Given the description of an element on the screen output the (x, y) to click on. 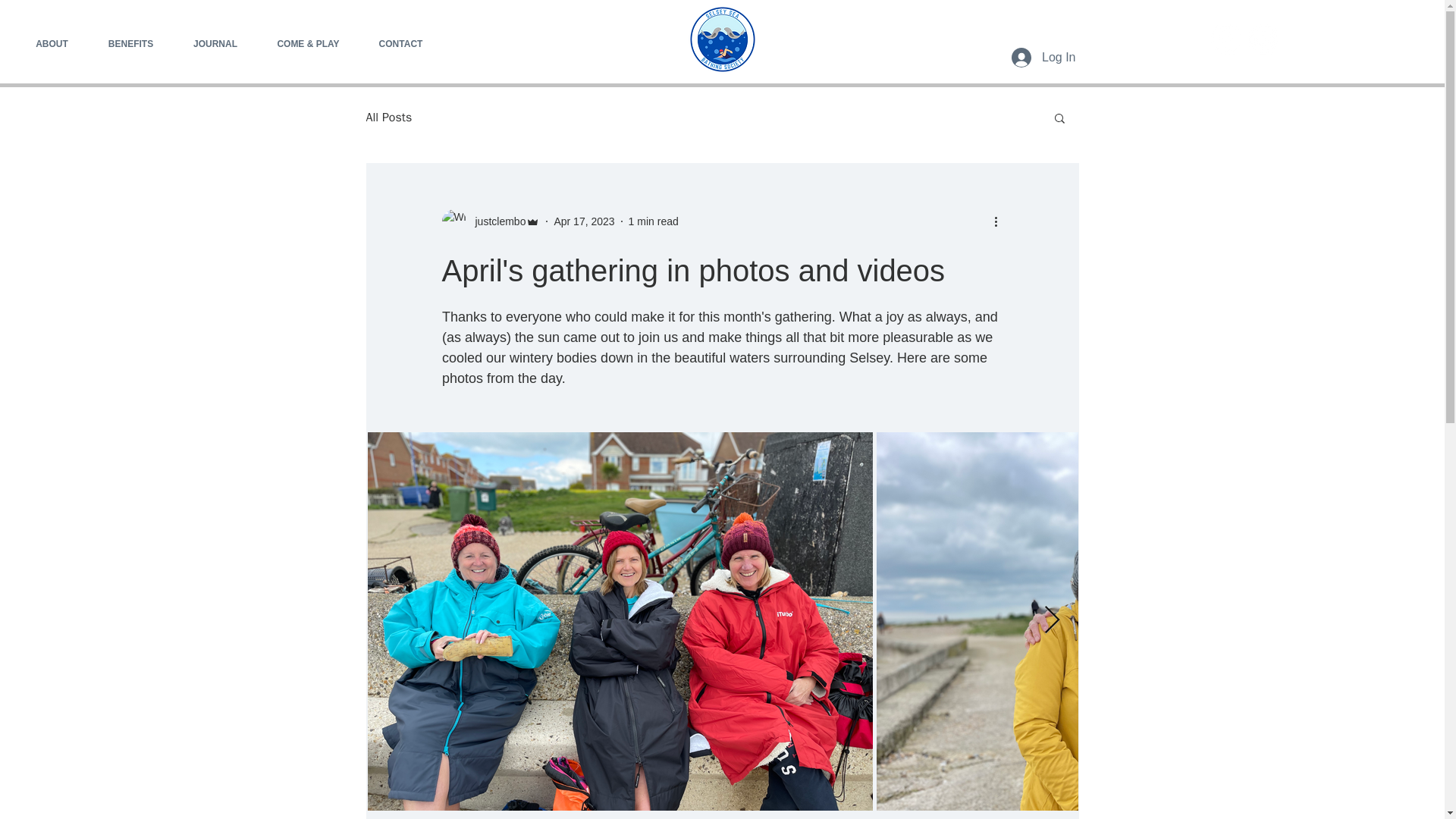
CONTACT (400, 43)
Apr 17, 2023 (583, 221)
JOURNAL (215, 43)
BENEFITS (130, 43)
ABOUT (51, 43)
1 min read (653, 221)
All Posts (388, 116)
justclembo (495, 221)
justclembo (490, 221)
Log In (1043, 57)
